Given the description of an element on the screen output the (x, y) to click on. 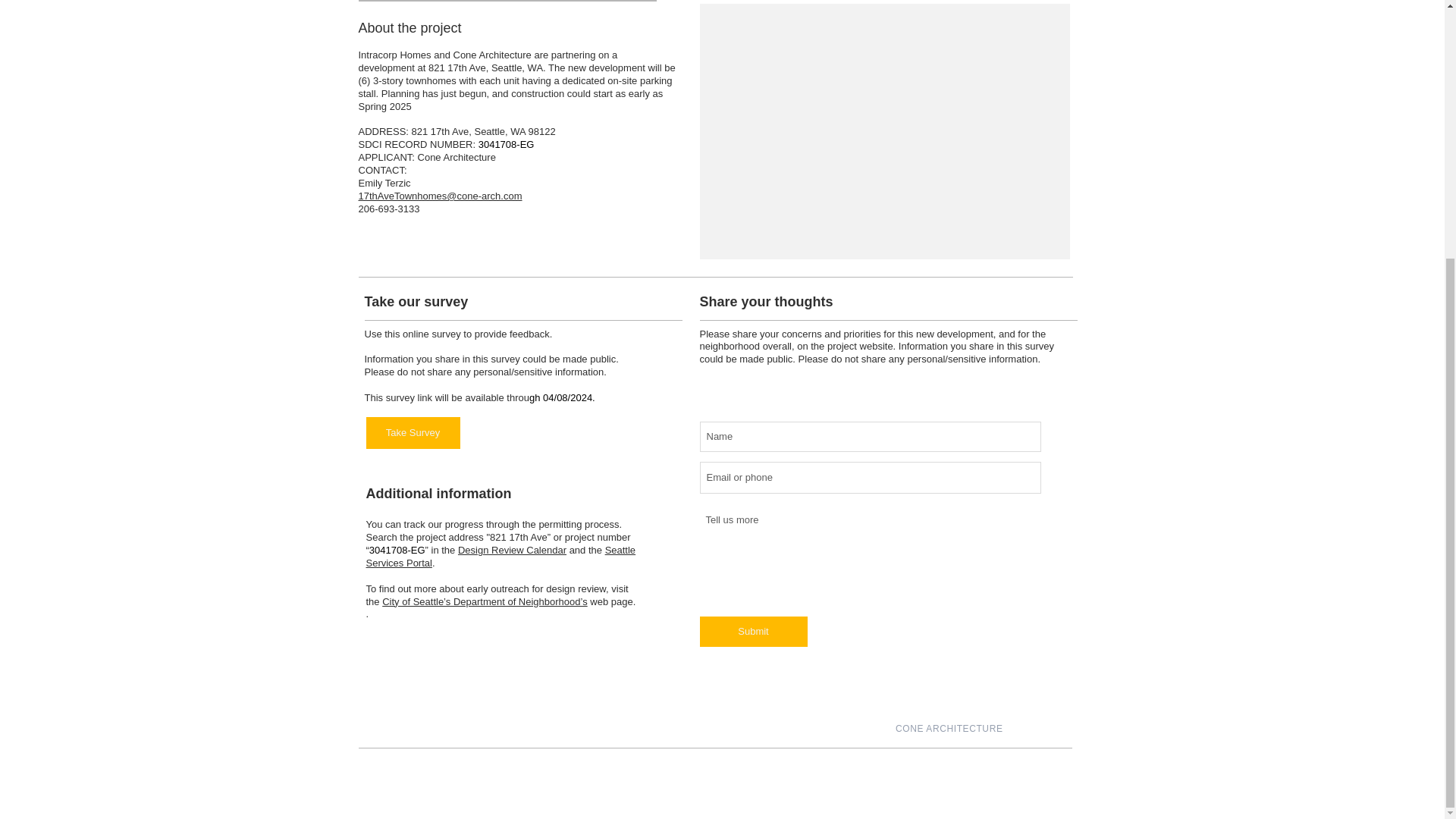
Submit (752, 631)
Design Review Calendar (512, 550)
Seattle Services Portal (499, 556)
Take Survey (412, 432)
